Given the description of an element on the screen output the (x, y) to click on. 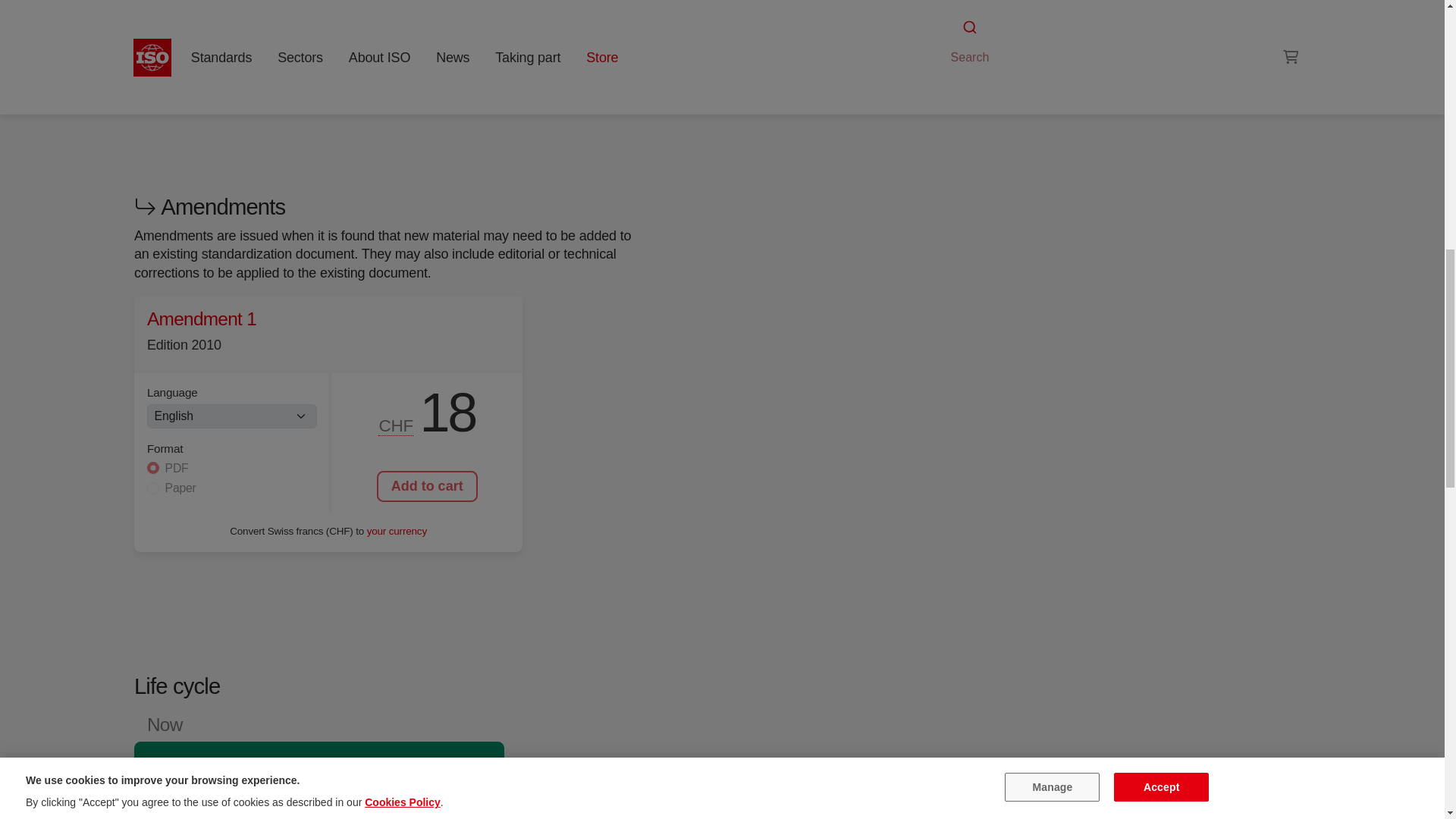
Protective clothing (1120, 22)
Protective clothing (997, 40)
